Given the description of an element on the screen output the (x, y) to click on. 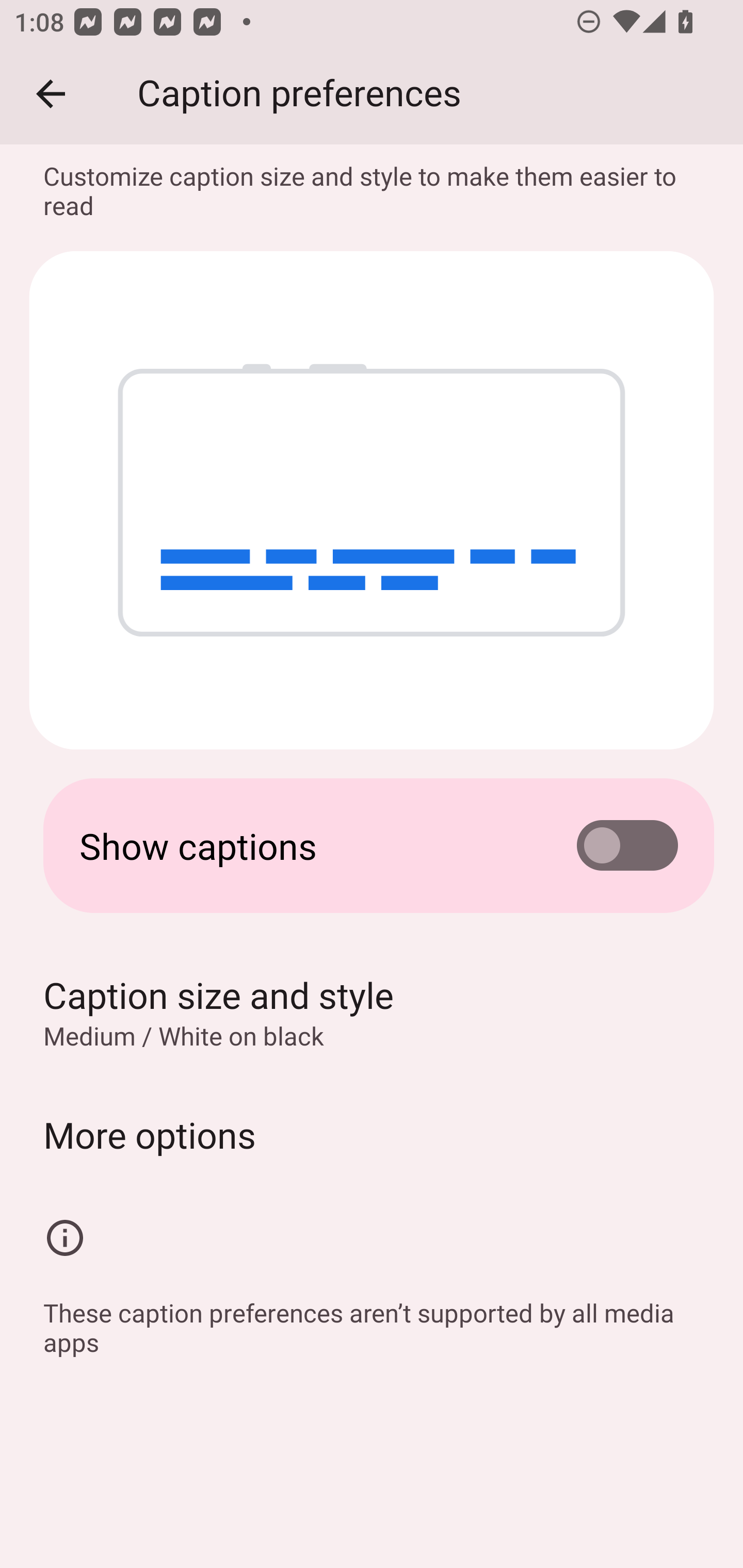
Navigate up (50, 93)
Show captions (371, 845)
Caption size and style Medium / White on black (371, 1011)
More options (371, 1133)
